Given the description of an element on the screen output the (x, y) to click on. 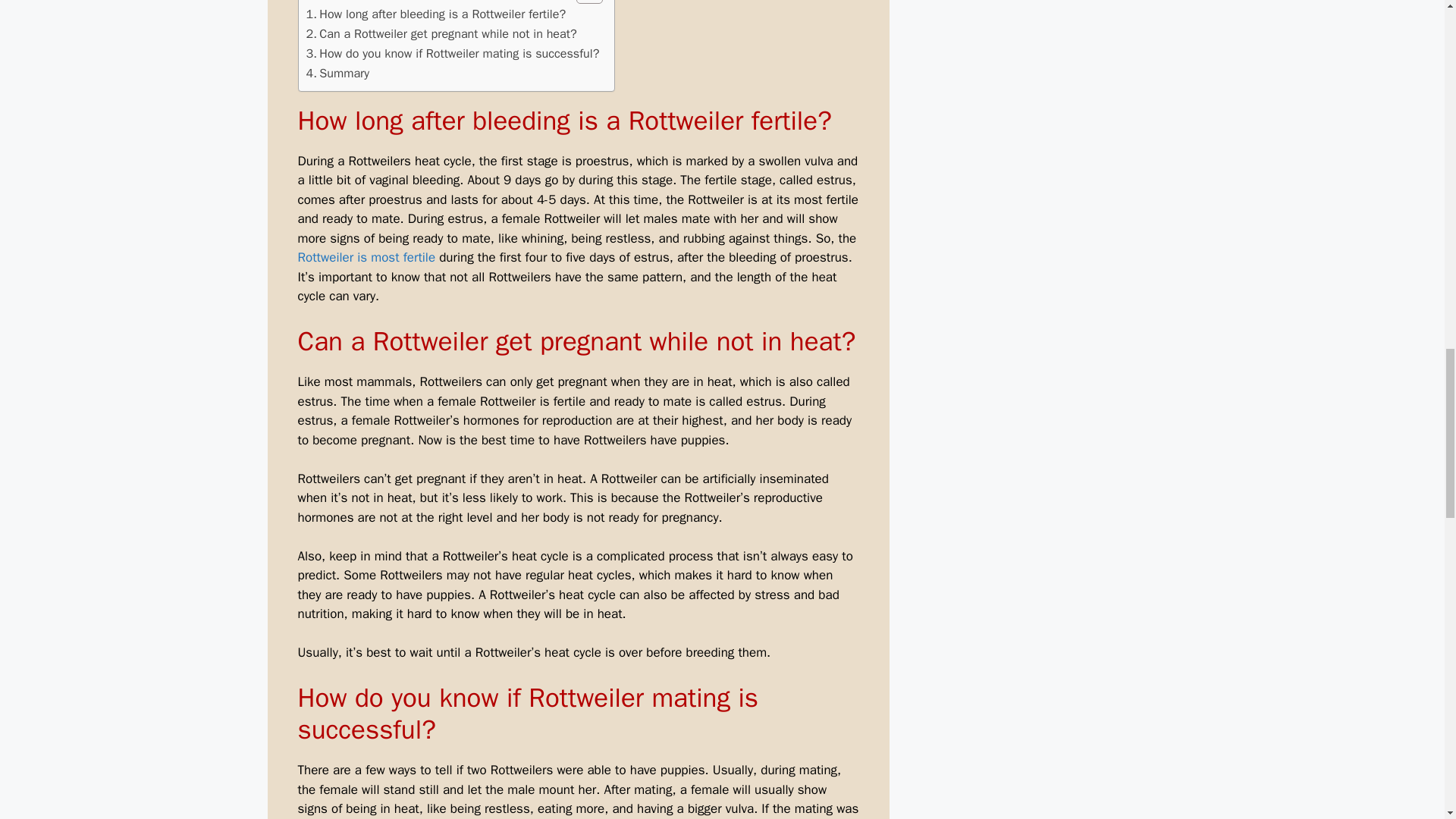
How do you know if Rottweiler mating is successful? (452, 53)
How do you know if Rottweiler mating is successful? (452, 53)
How long after bleeding is a Rottweiler fertile? (435, 14)
Rottweiler is most fertile (366, 257)
Summary (337, 73)
Summary (337, 73)
Can a Rottweiler get pregnant while not in heat? (440, 34)
How long after bleeding is a Rottweiler fertile? (435, 14)
Can a Rottweiler get pregnant while not in heat? (440, 34)
